Given the description of an element on the screen output the (x, y) to click on. 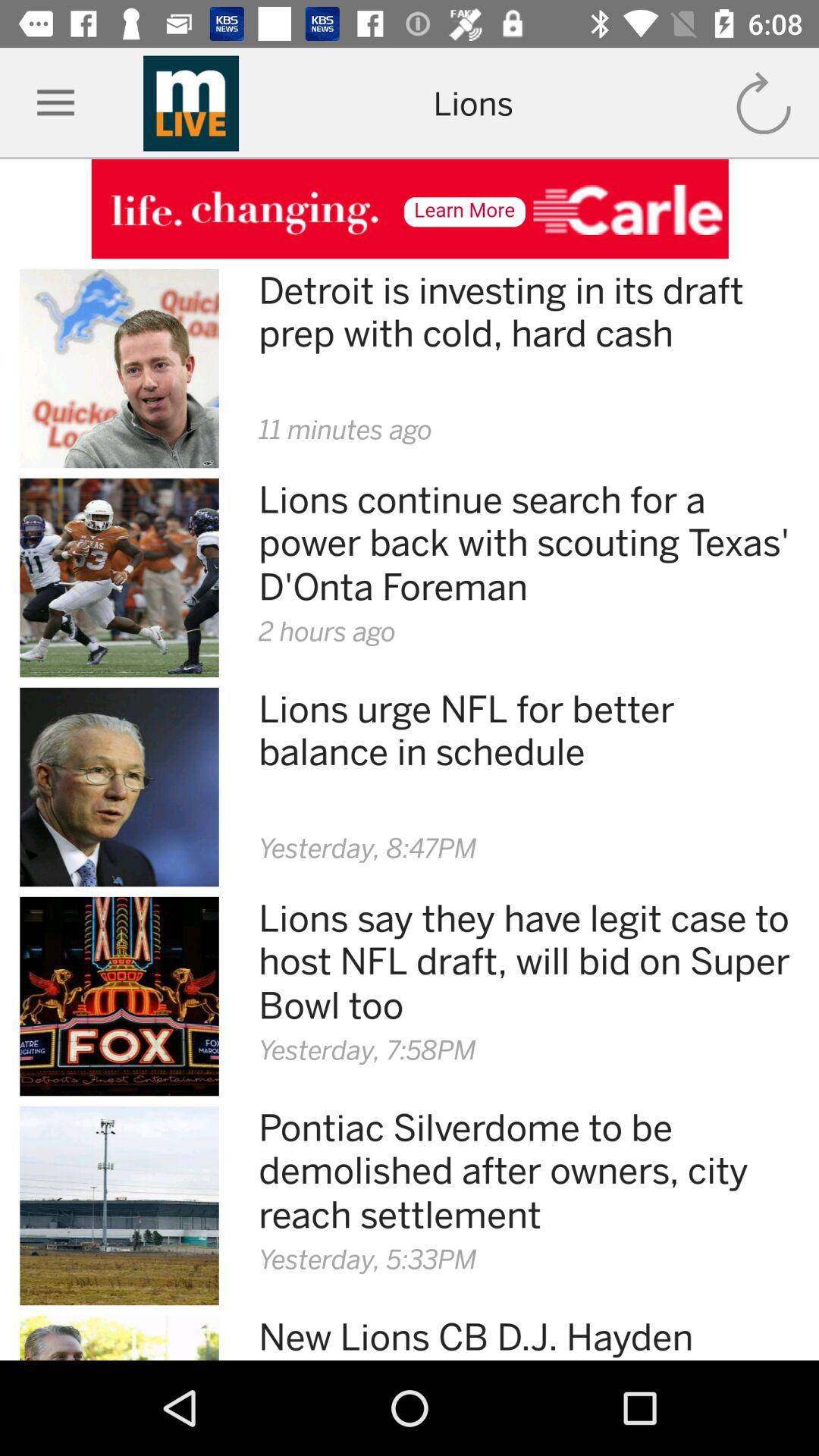
open this banner link (409, 208)
